Given the description of an element on the screen output the (x, y) to click on. 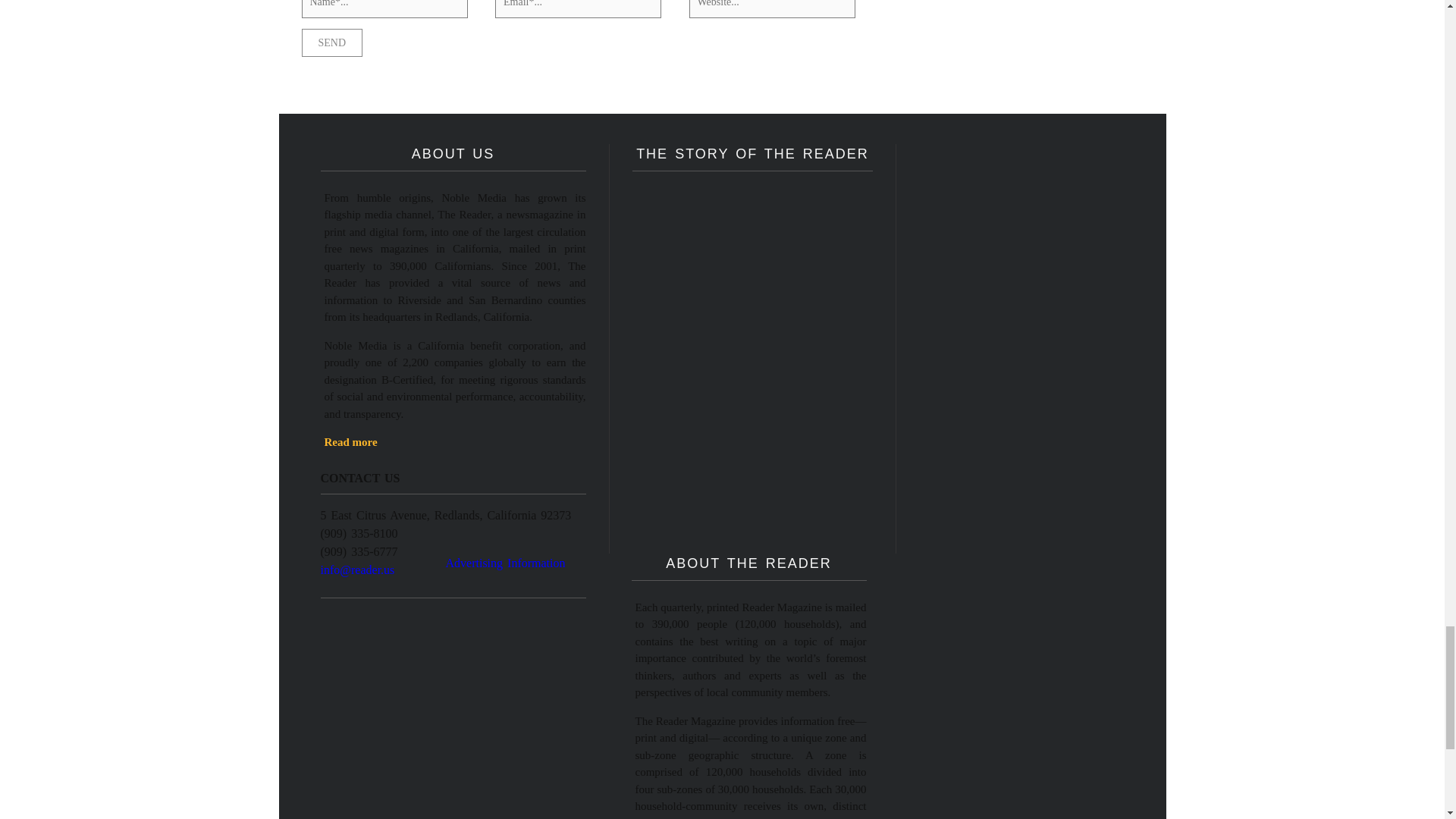
Send (331, 42)
